Given the description of an element on the screen output the (x, y) to click on. 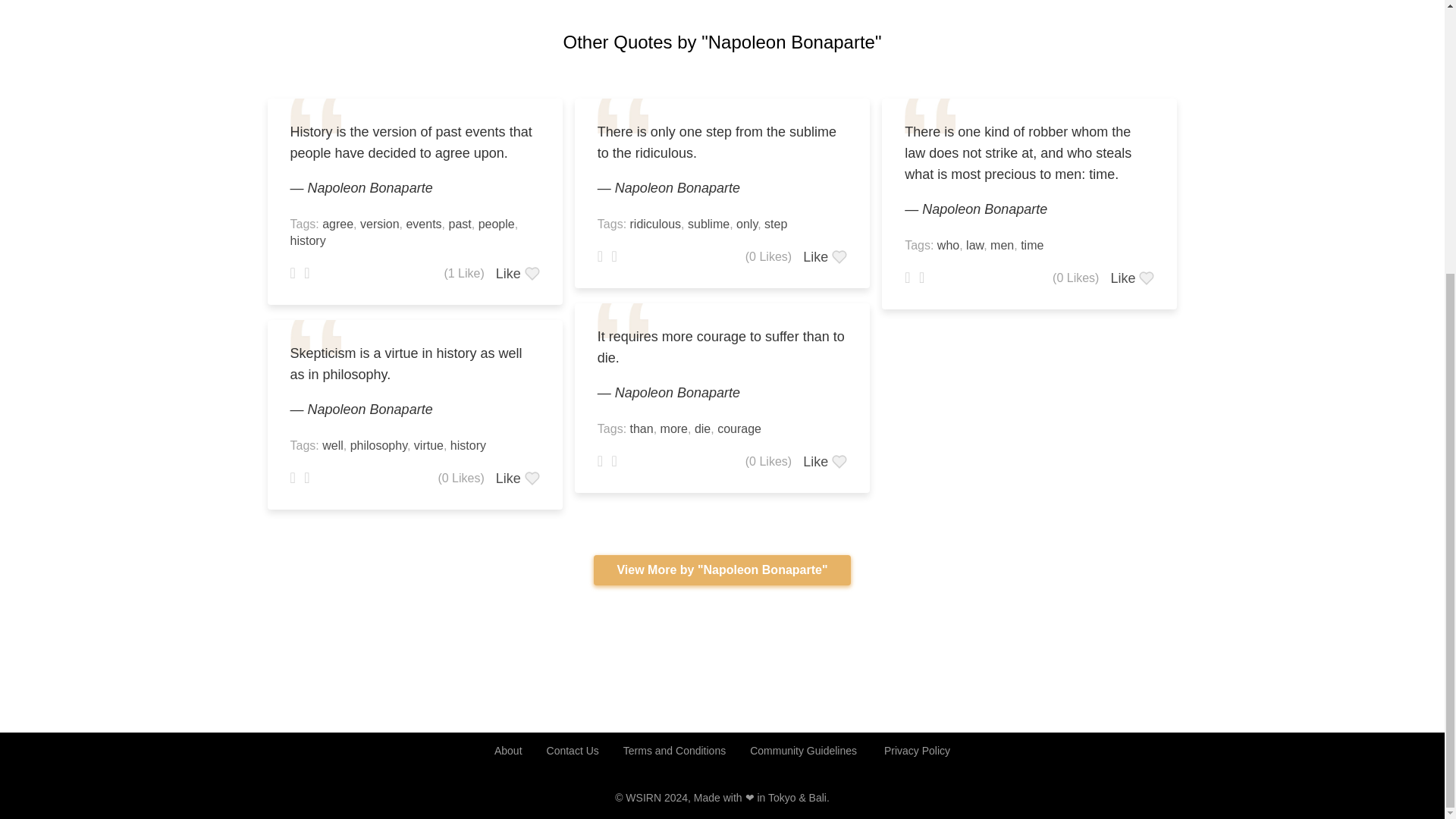
version (378, 223)
Napoleon Bonaparte (369, 187)
people (497, 223)
agree (337, 223)
Skepticism is a virtue in history as well as in philosophy. (413, 363)
virtue (428, 445)
events (423, 223)
Napoleon Bonaparte (369, 409)
history (467, 445)
philosophy (378, 445)
